Given the description of an element on the screen output the (x, y) to click on. 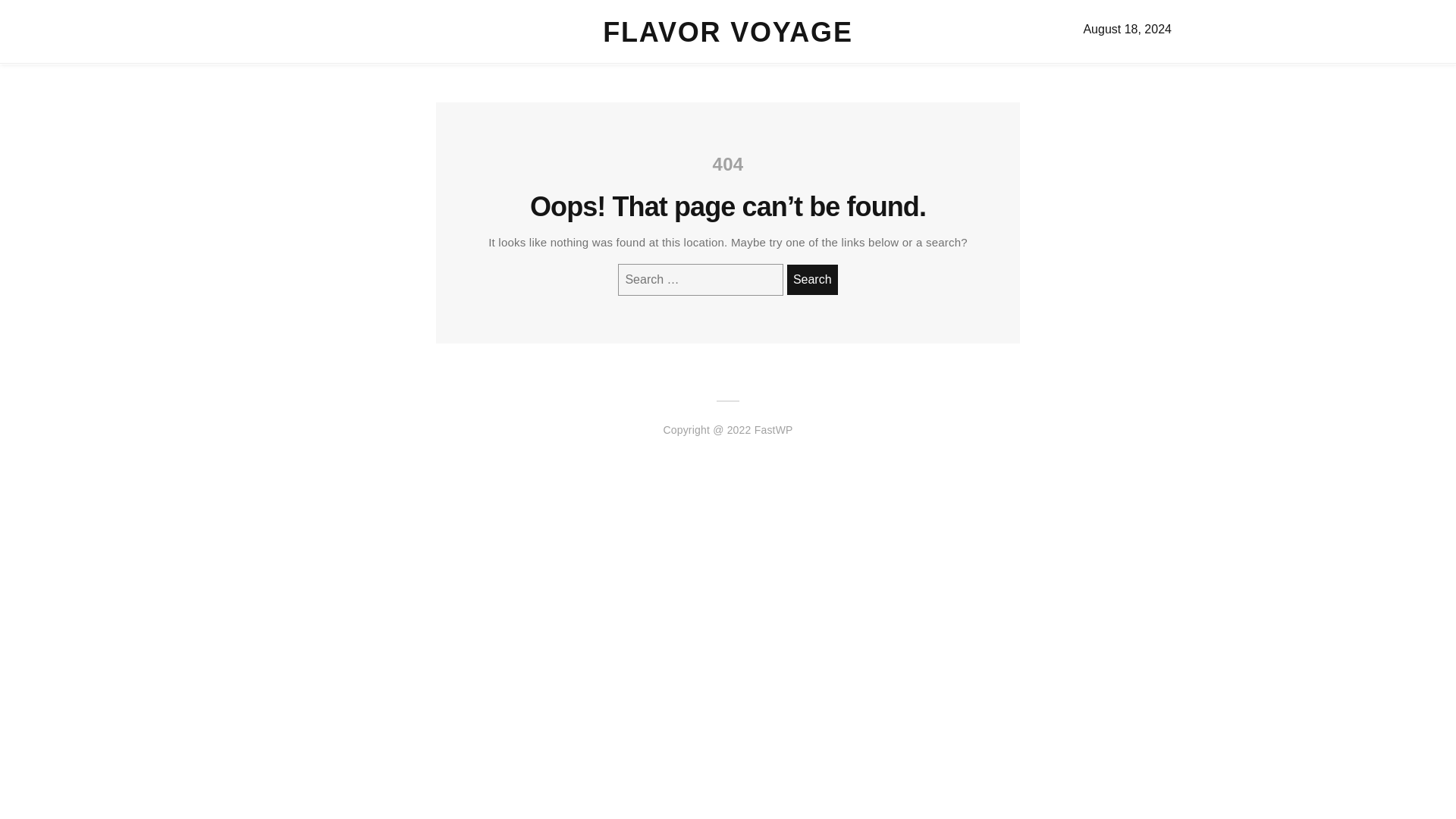
Search (812, 279)
FLAVOR VOYAGE (726, 31)
Search (812, 279)
Search (812, 279)
Flavor Voyage (726, 31)
